Given the description of an element on the screen output the (x, y) to click on. 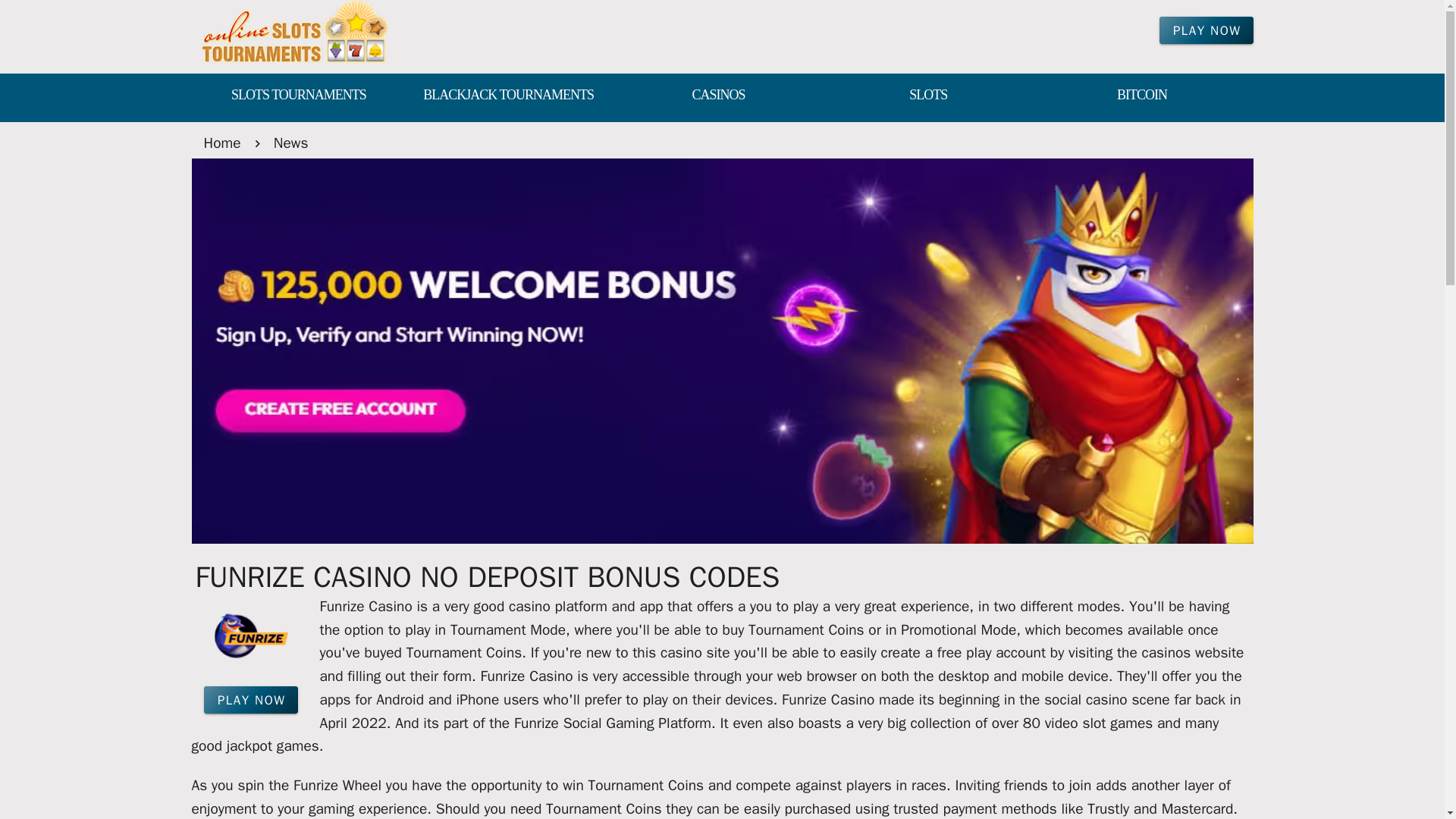
PLAY NOW (250, 699)
SLOTS TOURNAMENTS (297, 95)
Home (221, 143)
PLAY NOW (1205, 30)
BLACKJACK TOURNAMENTS (508, 95)
News (290, 143)
CASINOS (718, 95)
SLOTS (928, 95)
BITCOIN (1141, 95)
